Given the description of an element on the screen output the (x, y) to click on. 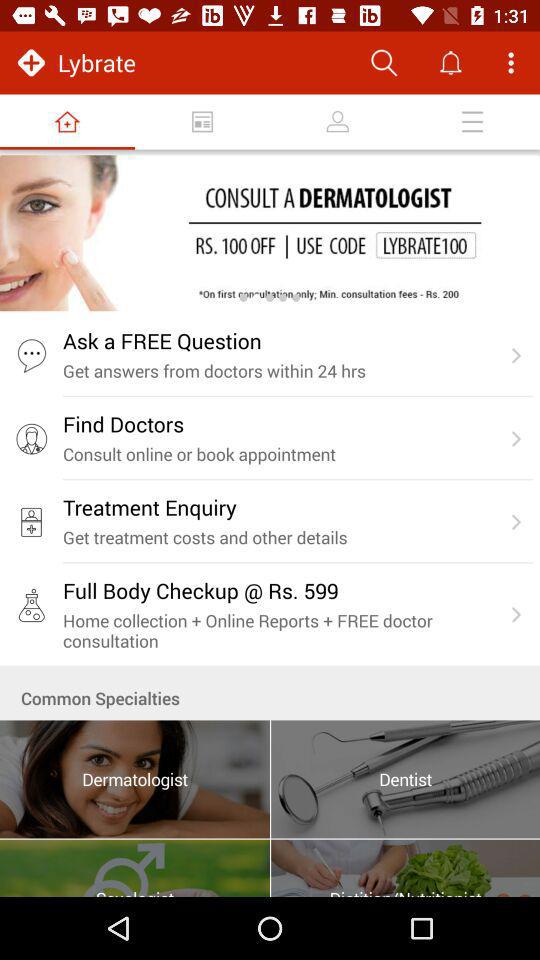
search button (384, 62)
